Given the description of an element on the screen output the (x, y) to click on. 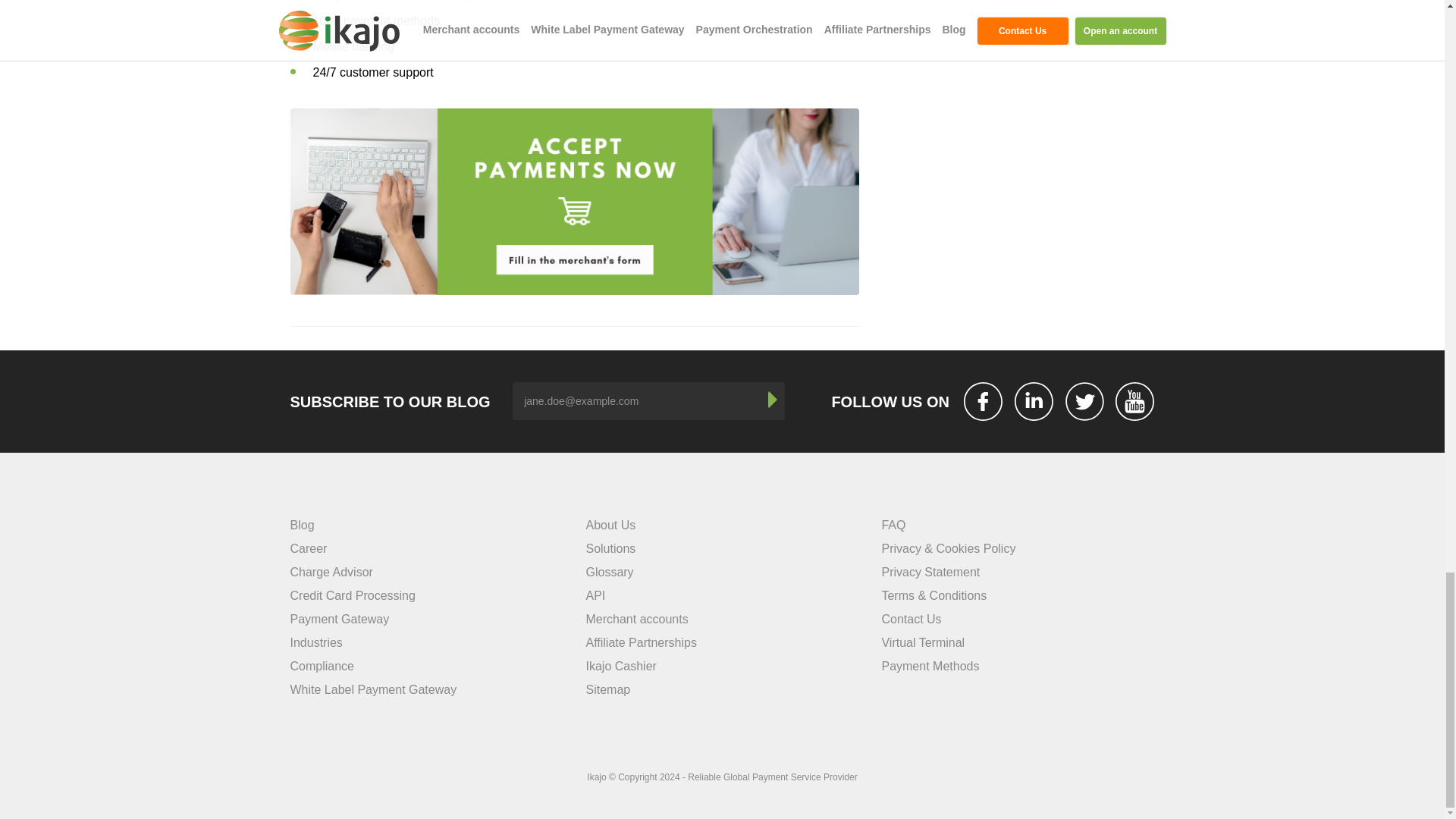
Compliance (321, 666)
Charge Advisor (330, 571)
Glossary (609, 571)
API (595, 594)
Credit Card Processing (351, 594)
Payment Gateway (338, 618)
Merchant accounts (636, 618)
Compliance (321, 666)
youtube (1134, 401)
Payment Gateway (338, 618)
